Given the description of an element on the screen output the (x, y) to click on. 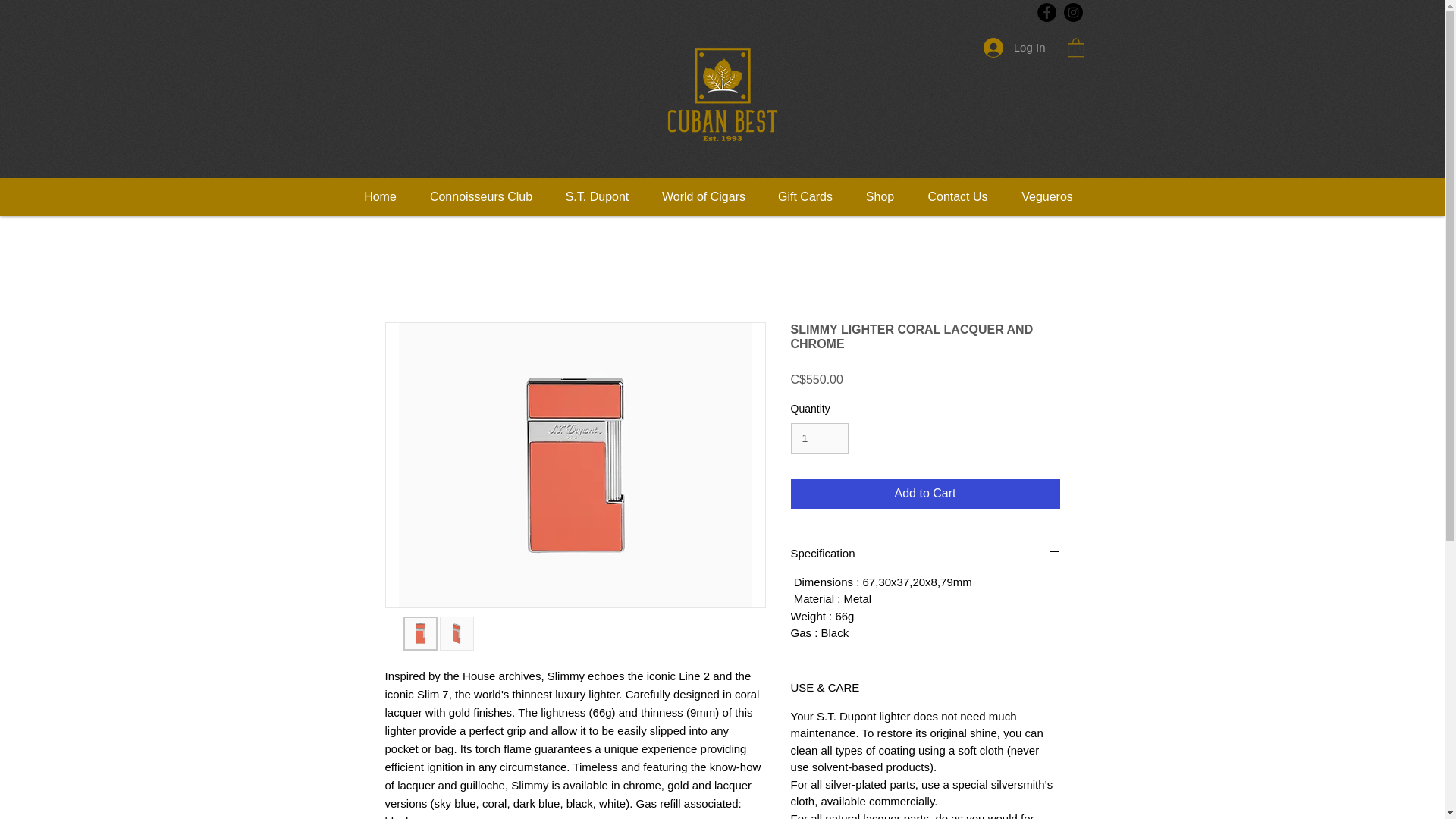
1 (818, 438)
Home (380, 197)
Connoisseurs Club (480, 197)
Add to Cart (924, 493)
Shop (879, 197)
Contact Us (957, 197)
Gift Cards (804, 197)
Vegueros (1046, 197)
Log In (1014, 47)
S.T. Dupont (597, 197)
